Given the description of an element on the screen output the (x, y) to click on. 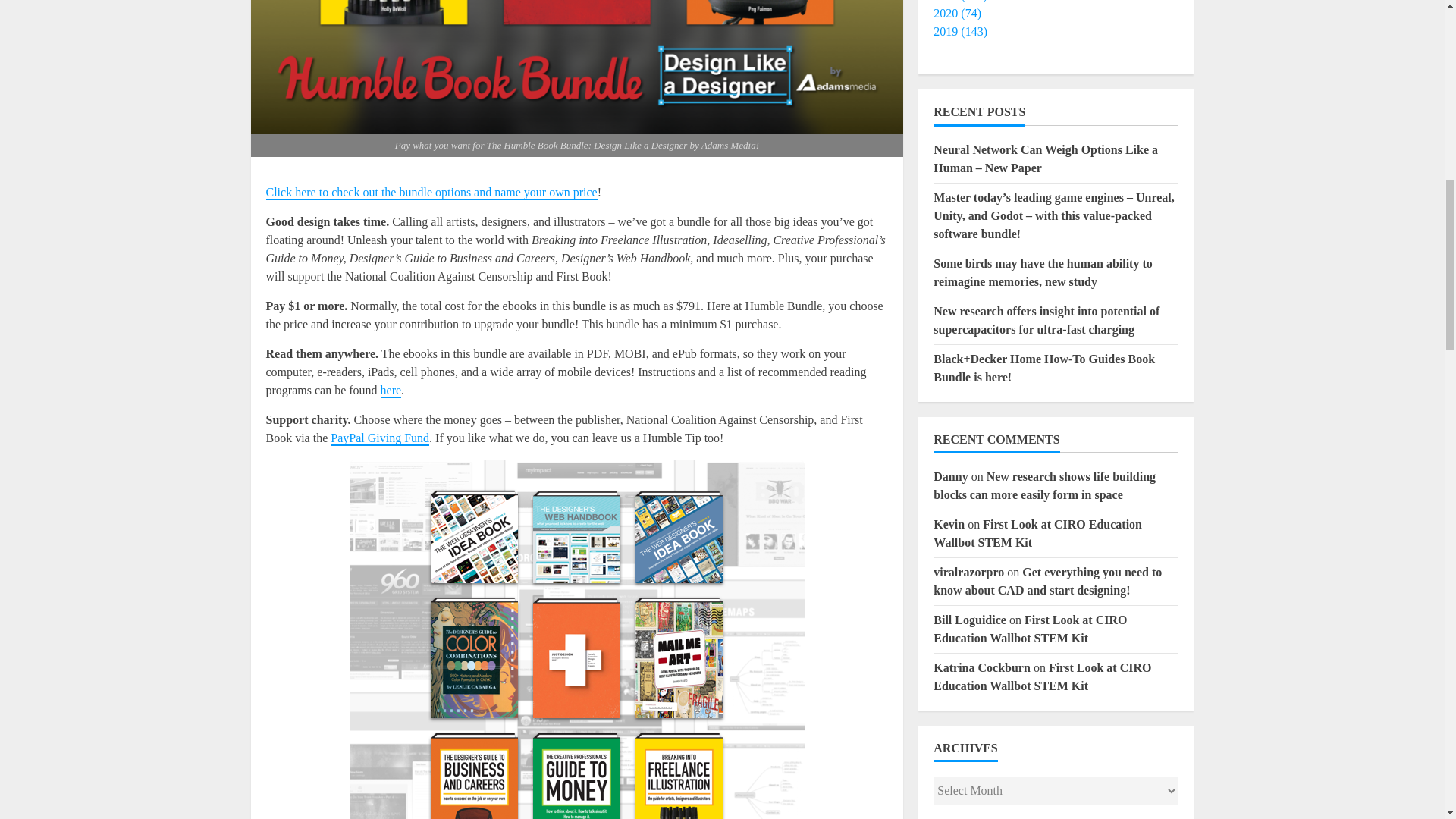
here (390, 391)
PayPal Giving Fund (379, 438)
